Given the description of an element on the screen output the (x, y) to click on. 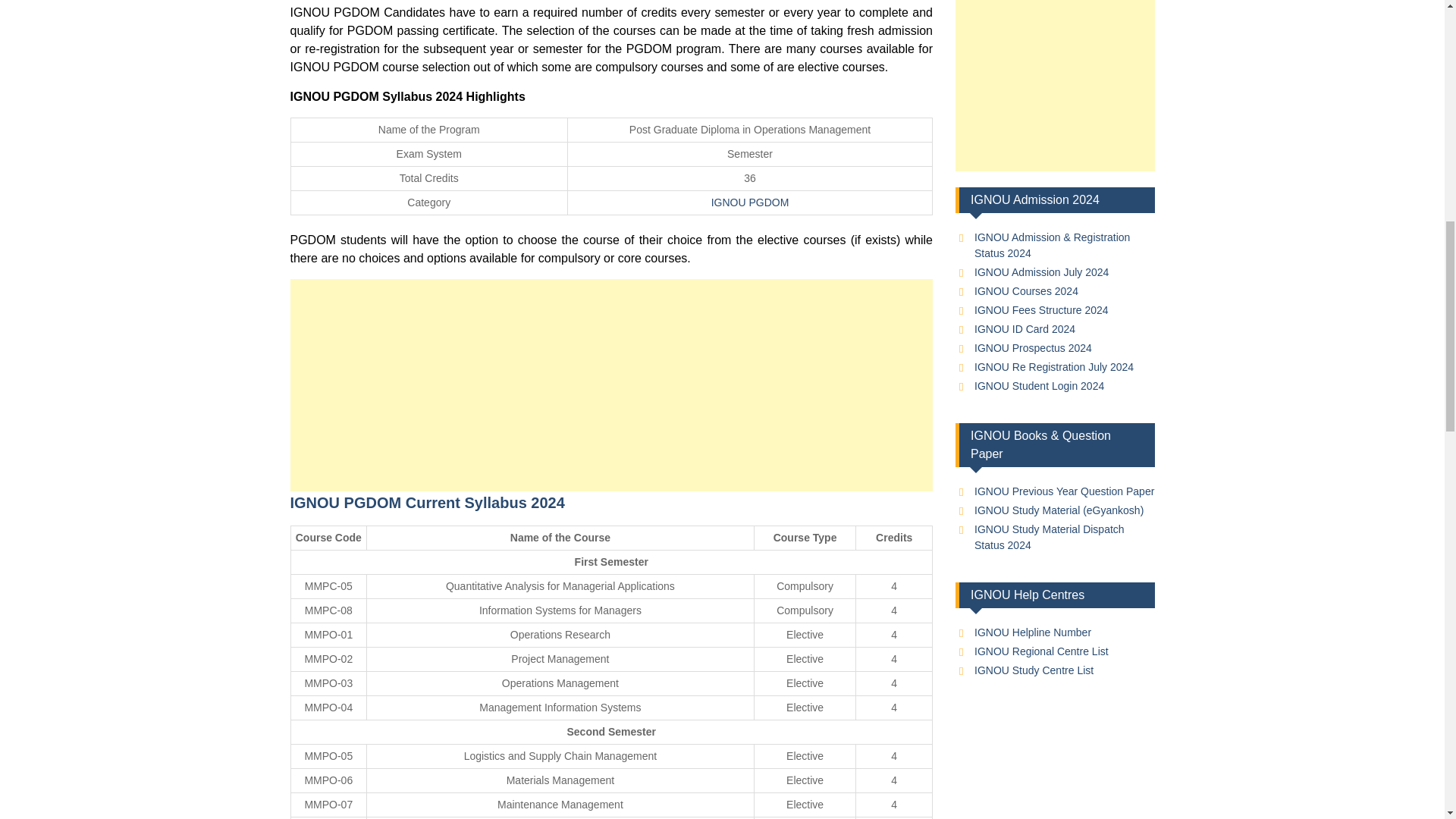
IGNOU Admission July 2024 (1041, 272)
IGNOU PGDOM (750, 202)
Advertisement (1054, 85)
